Given the description of an element on the screen output the (x, y) to click on. 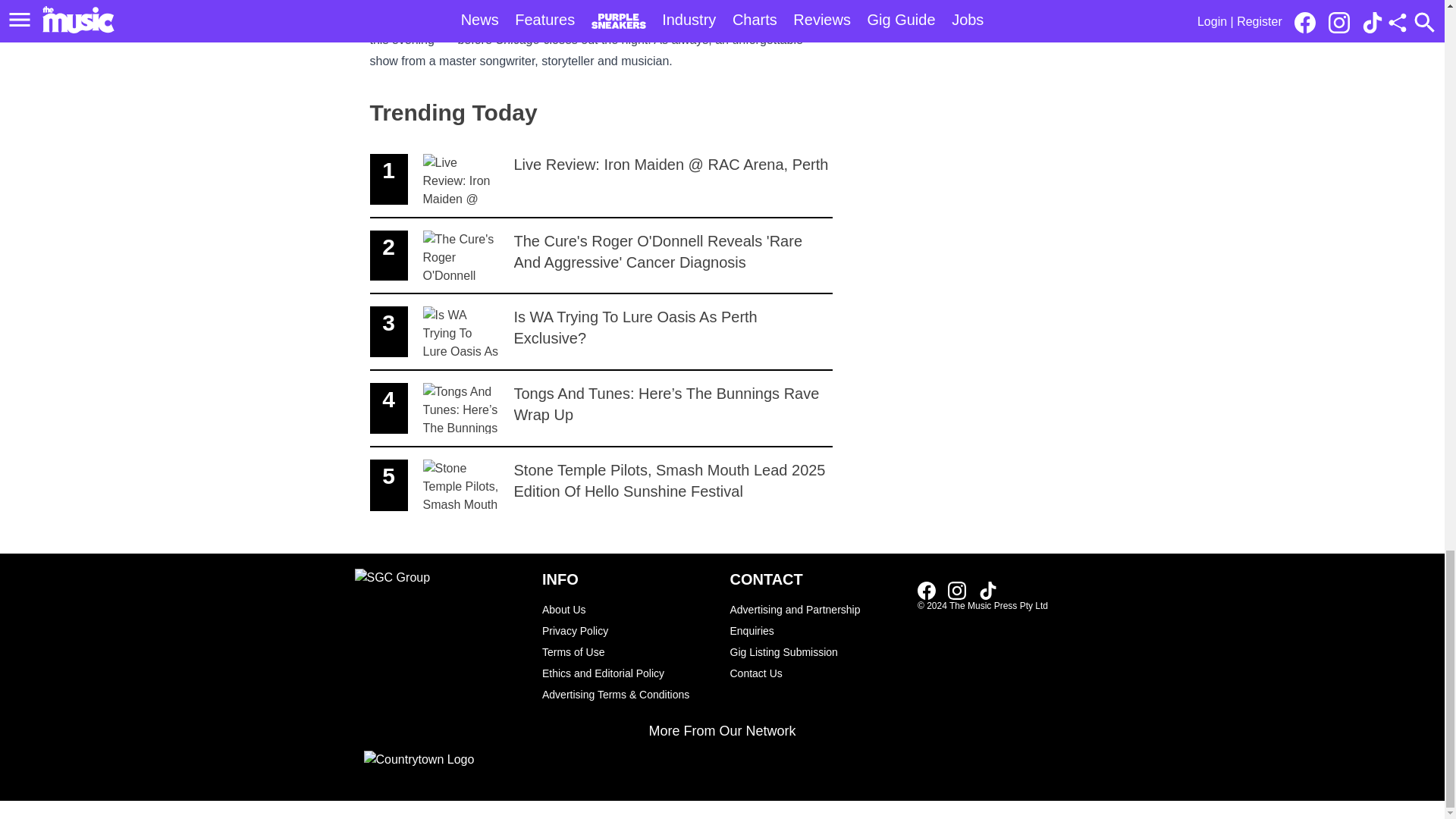
Gig Listing Submission (815, 651)
Privacy Policy (627, 630)
Terms of Use (627, 651)
Link to our TikTok (987, 590)
Contact Us (815, 672)
About Us (627, 608)
Link to our Instagram (961, 589)
Link to our Instagram (956, 590)
